Given the description of an element on the screen output the (x, y) to click on. 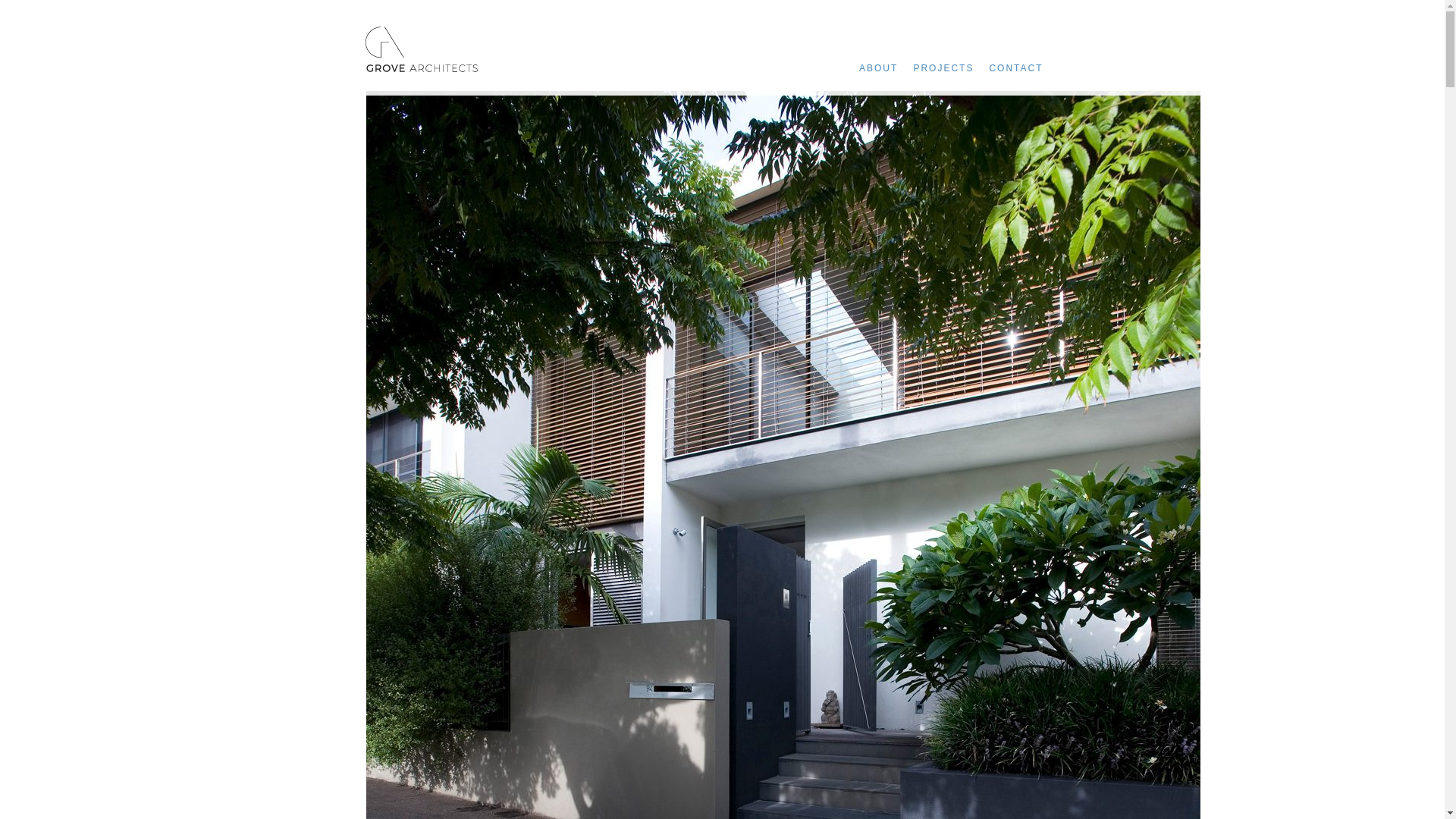
PROJECTS Element type: text (950, 68)
Menu Element type: hover (1066, 65)
ABOUT Element type: text (886, 68)
CONTACT Element type: text (1022, 68)
